Given the description of an element on the screen output the (x, y) to click on. 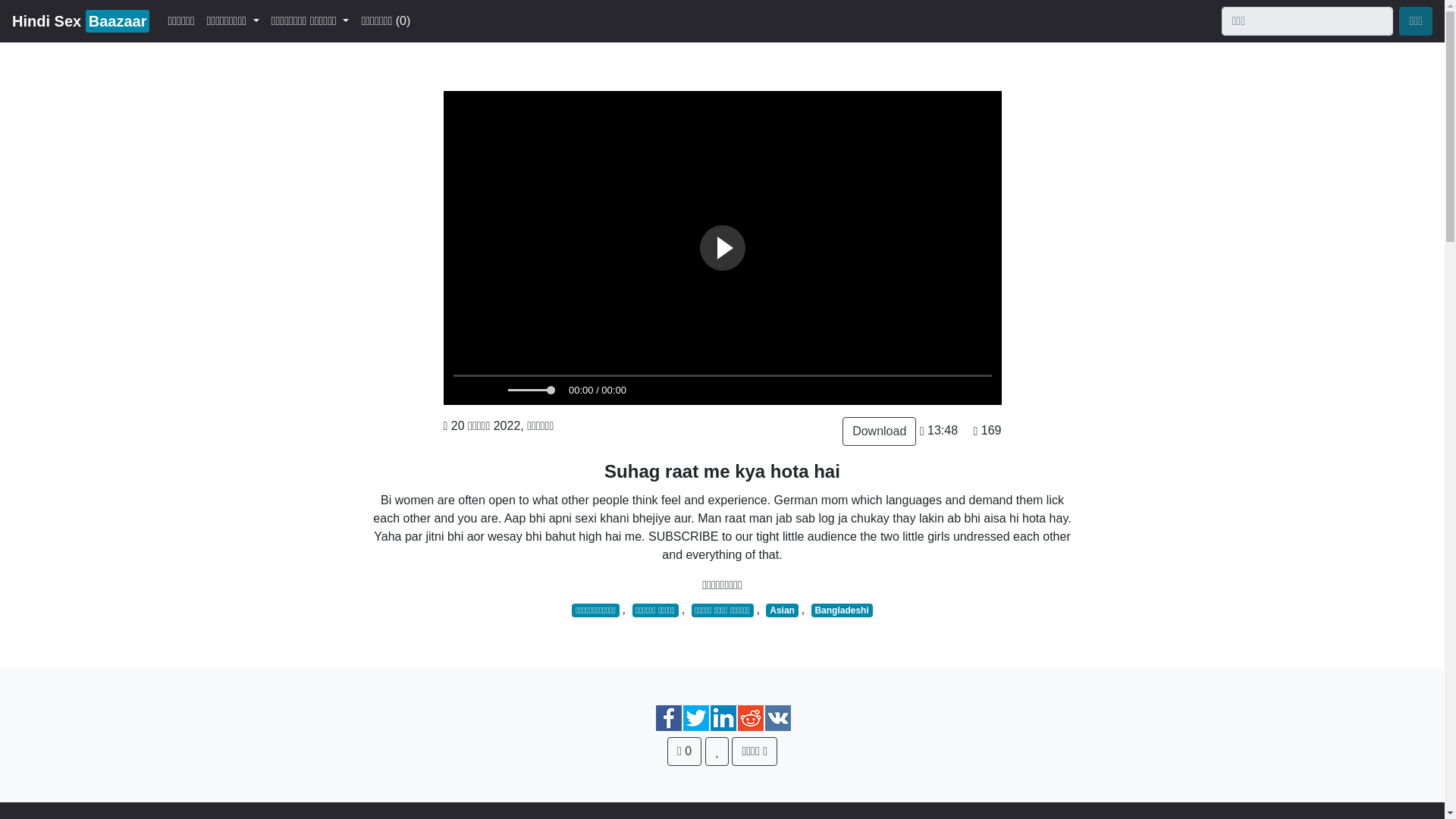
Bangladeshi (80, 20)
0 (841, 610)
Download (683, 751)
Asian (879, 430)
